Given the description of an element on the screen output the (x, y) to click on. 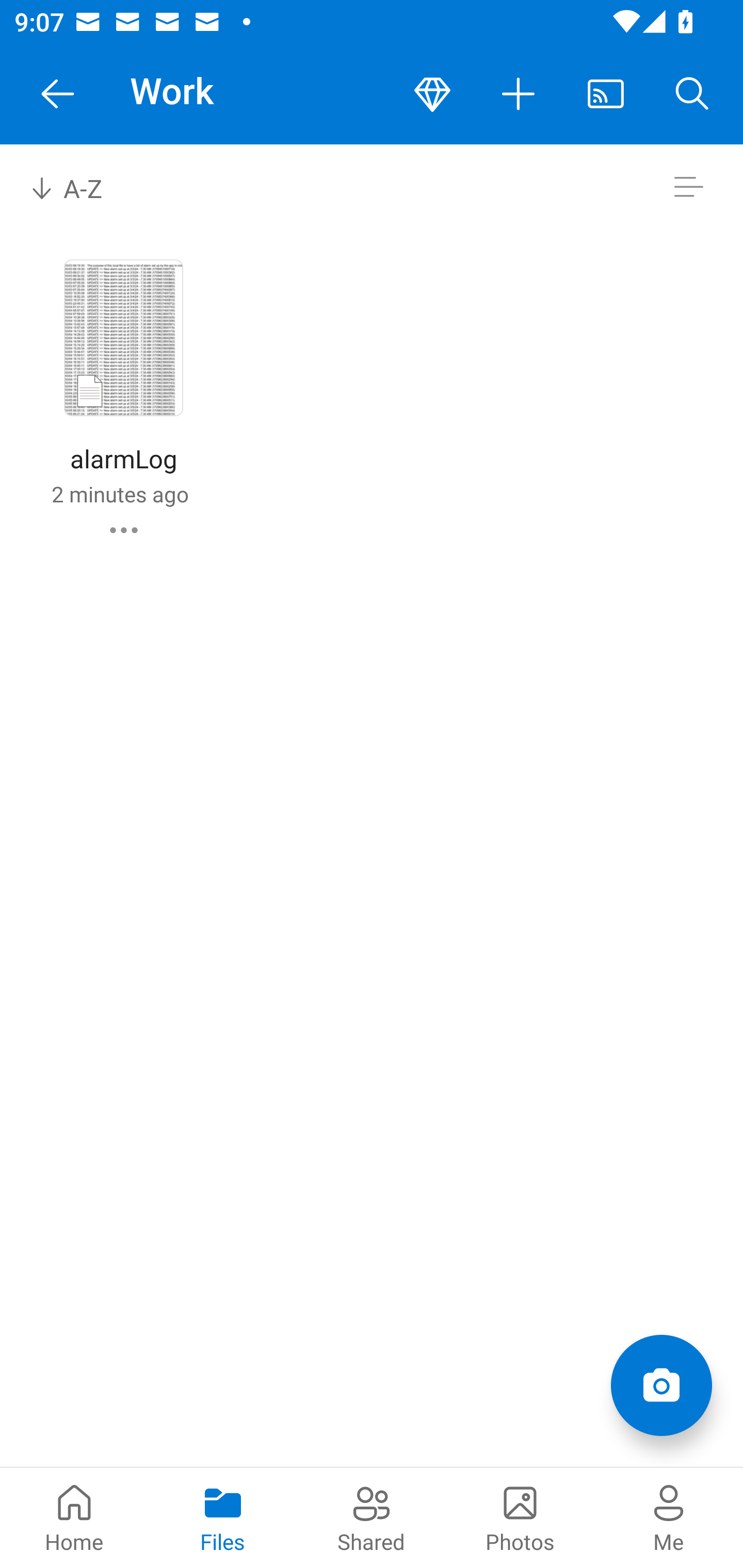
Navigate Up (57, 93)
Cast. Disconnected (605, 93)
Premium button (432, 93)
More actions button (518, 93)
Search button (692, 93)
A-Z Sort by combo box, sort by name, A to Z (80, 187)
Switch to list view (688, 187)
Document alarmLog 2 minutes ago alarmLog commands (123, 393)
2 minutes ago (119, 493)
alarmLog commands (123, 529)
Add items Scan (660, 1385)
Home pivot Home (74, 1517)
Shared pivot Shared (371, 1517)
Photos pivot Photos (519, 1517)
Me pivot Me (668, 1517)
